Given the description of an element on the screen output the (x, y) to click on. 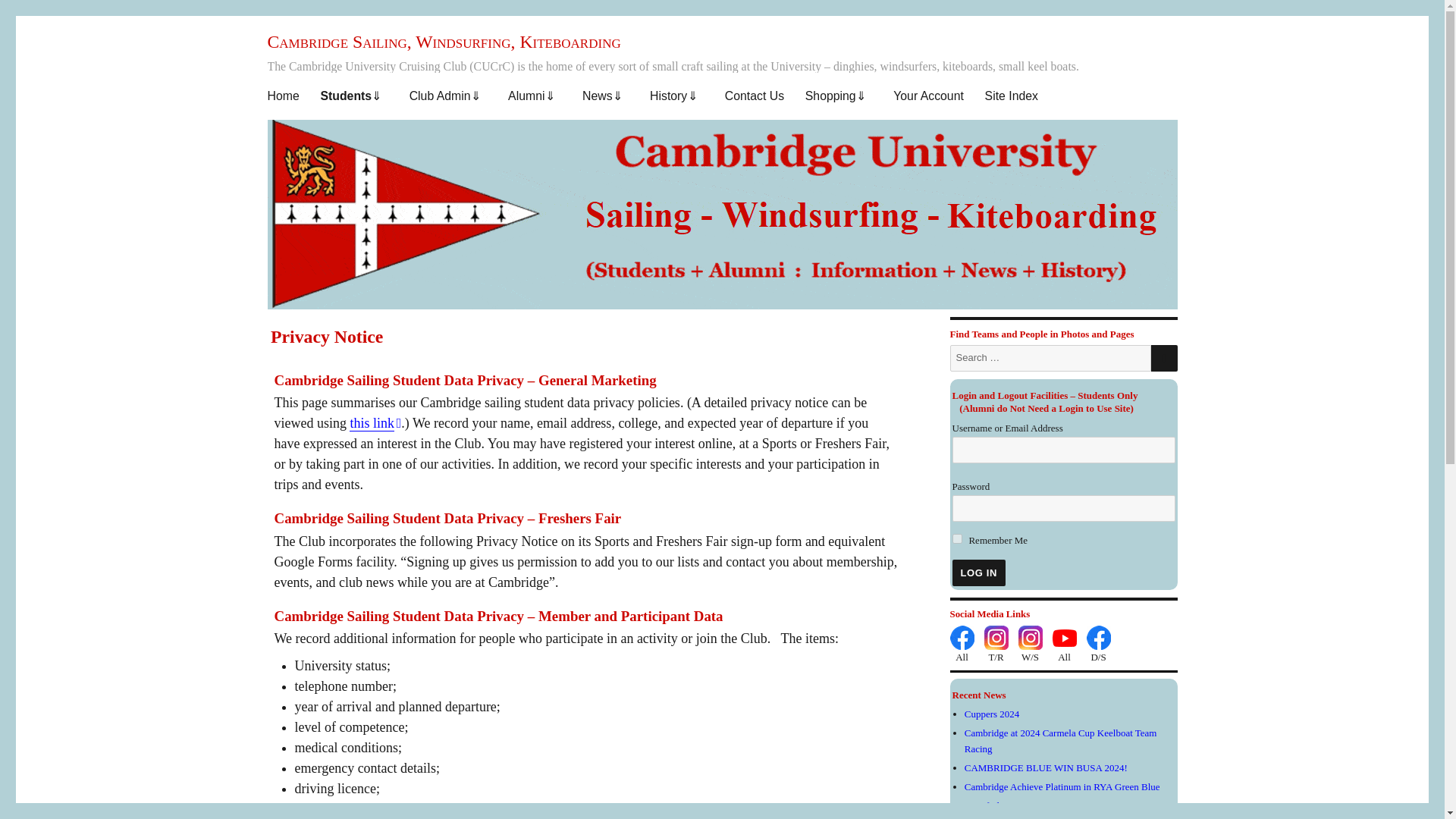
Alumni (534, 96)
Log In (979, 572)
News (605, 96)
History (676, 96)
Home (283, 96)
Students (354, 96)
forever (957, 538)
Cambridge Sailing, Windsurfing, Kiteboarding (443, 41)
Club Admin (447, 96)
